Given the description of an element on the screen output the (x, y) to click on. 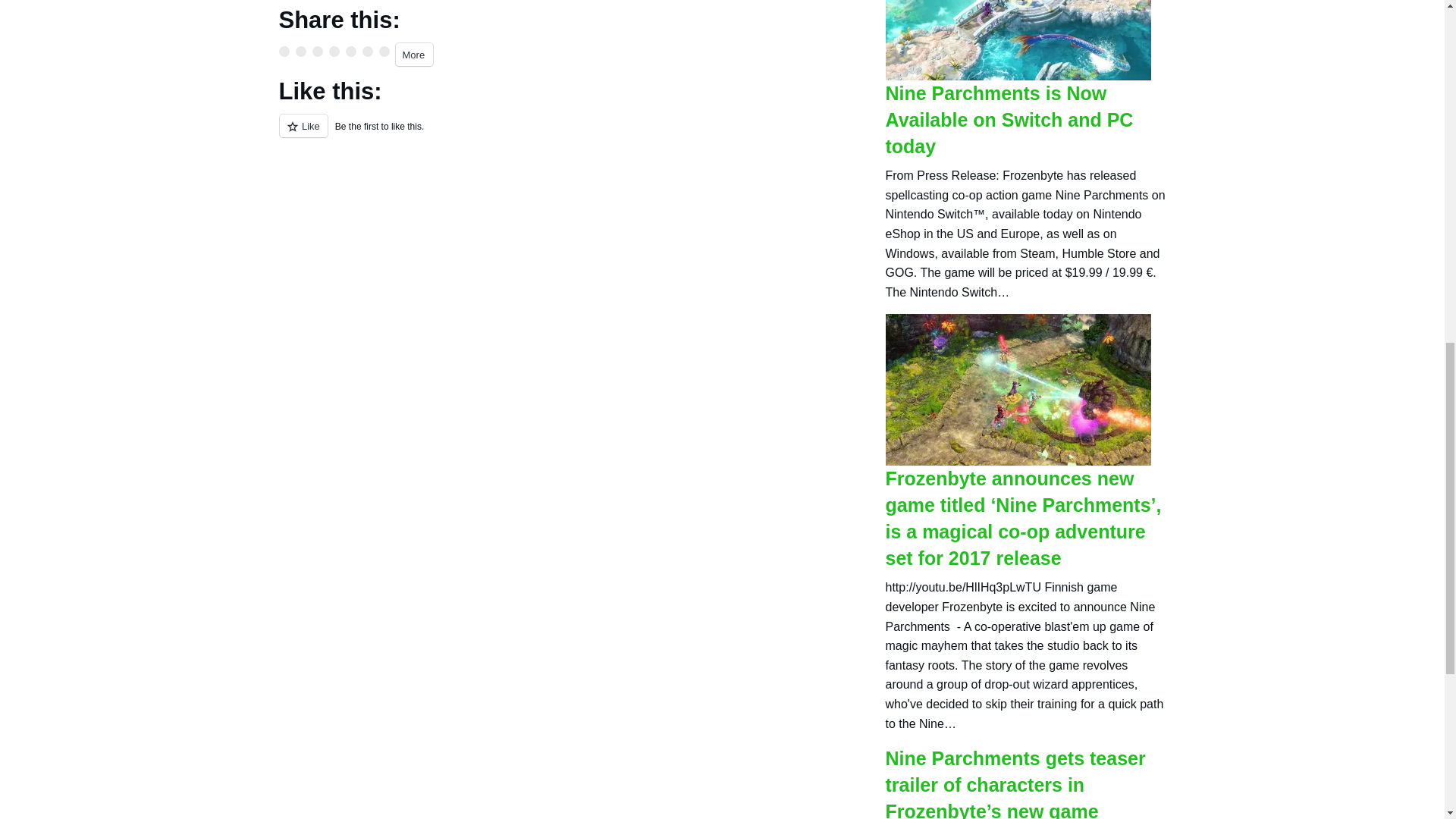
Click to share on Tumblr (334, 50)
Click to share on Pinterest (351, 50)
Nine Parchments is Now Available on Switch and PC today (1018, 5)
Click to share on Reddit (318, 50)
More (414, 54)
Like or Reblog (571, 134)
Click to share on Pocket (384, 50)
Click to share on Facebook (300, 50)
Nine Parchments is Now Available on Switch and PC today (1009, 119)
Click to share on Twitter (284, 50)
